Given the description of an element on the screen output the (x, y) to click on. 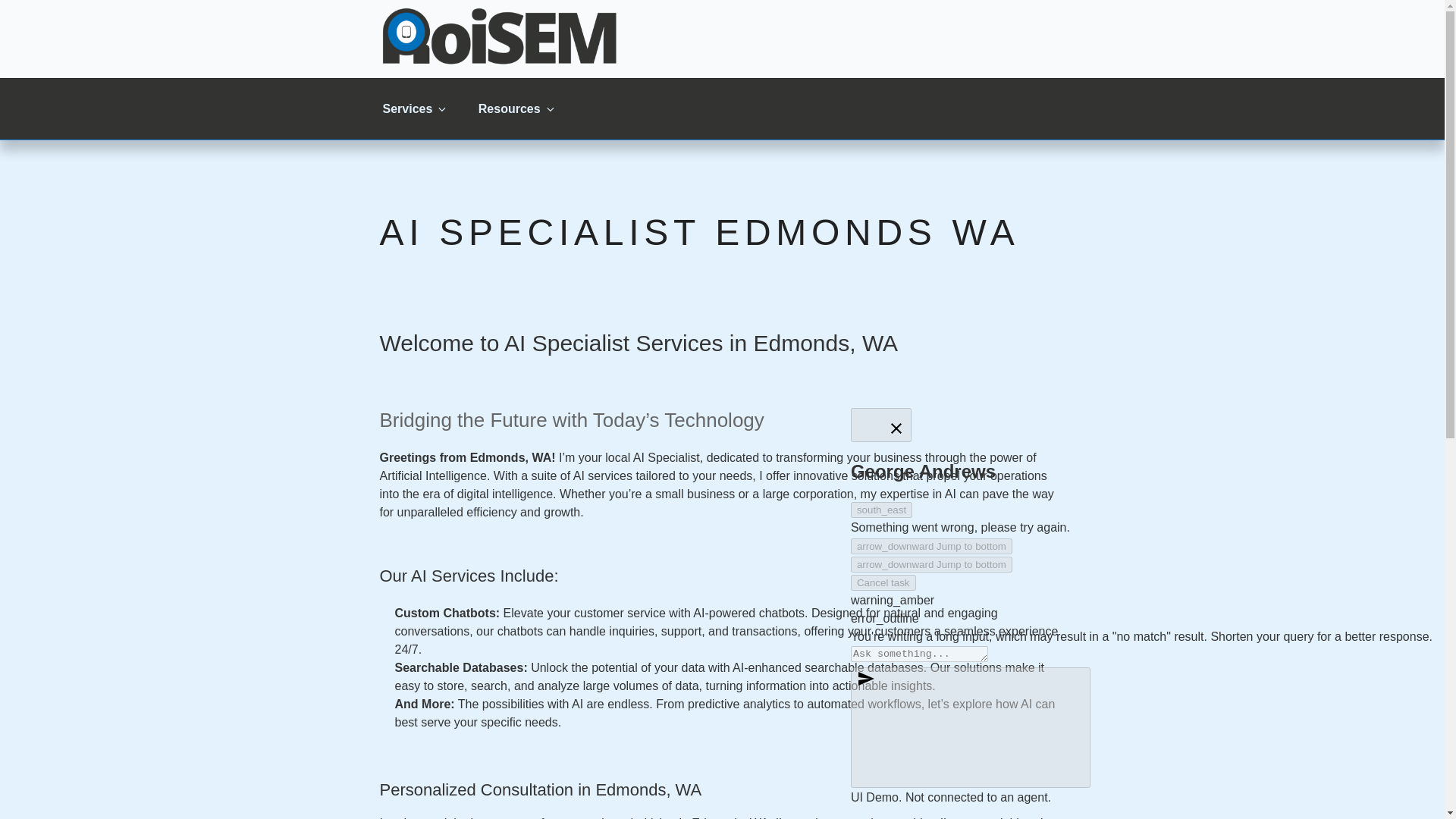
Resources (515, 108)
ROISEM LLC (473, 88)
Services (413, 108)
